Given the description of an element on the screen output the (x, y) to click on. 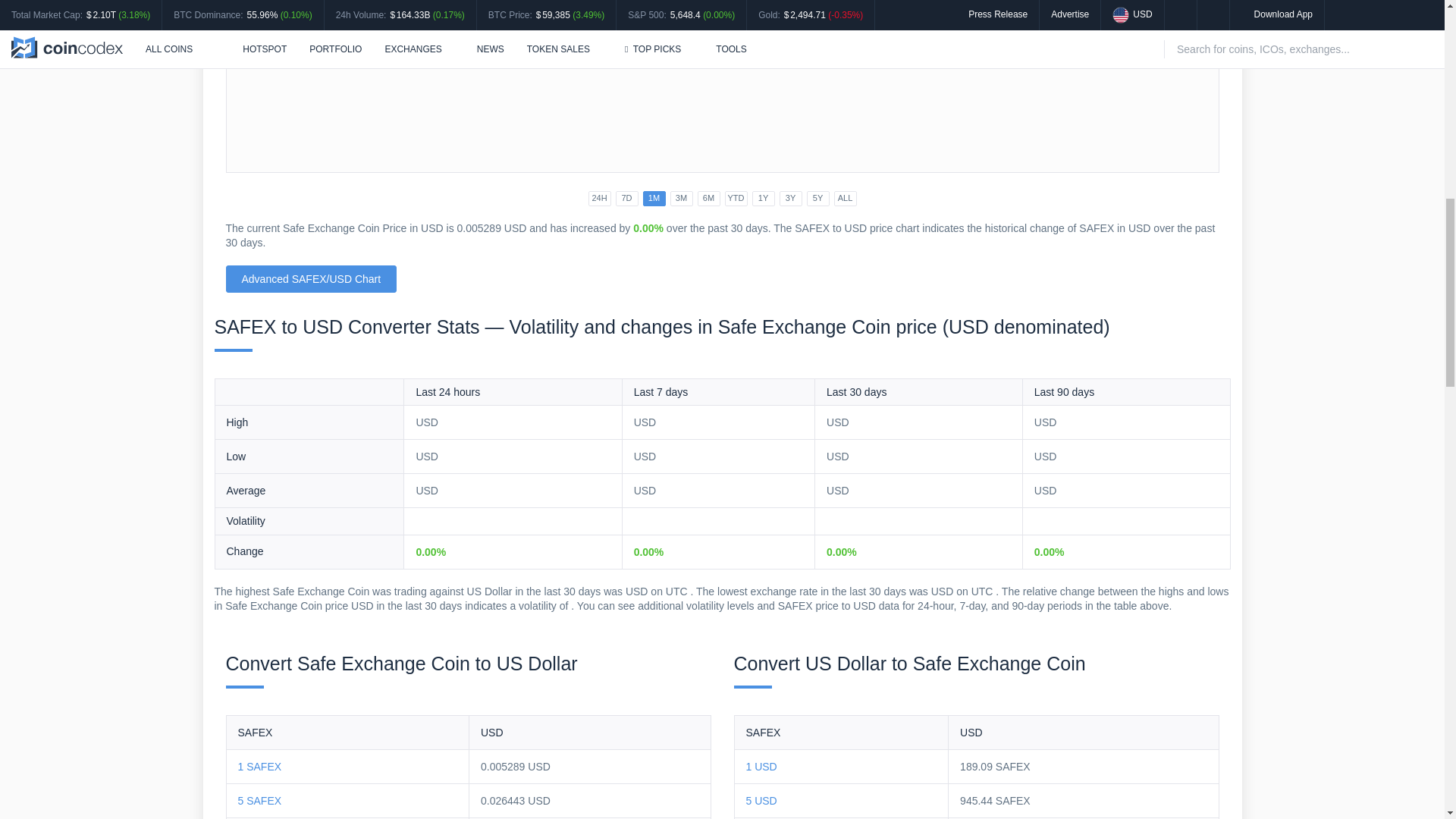
5 USD (761, 800)
1 USD (761, 766)
5 SAFEX (260, 800)
1 SAFEX (260, 766)
